Given the description of an element on the screen output the (x, y) to click on. 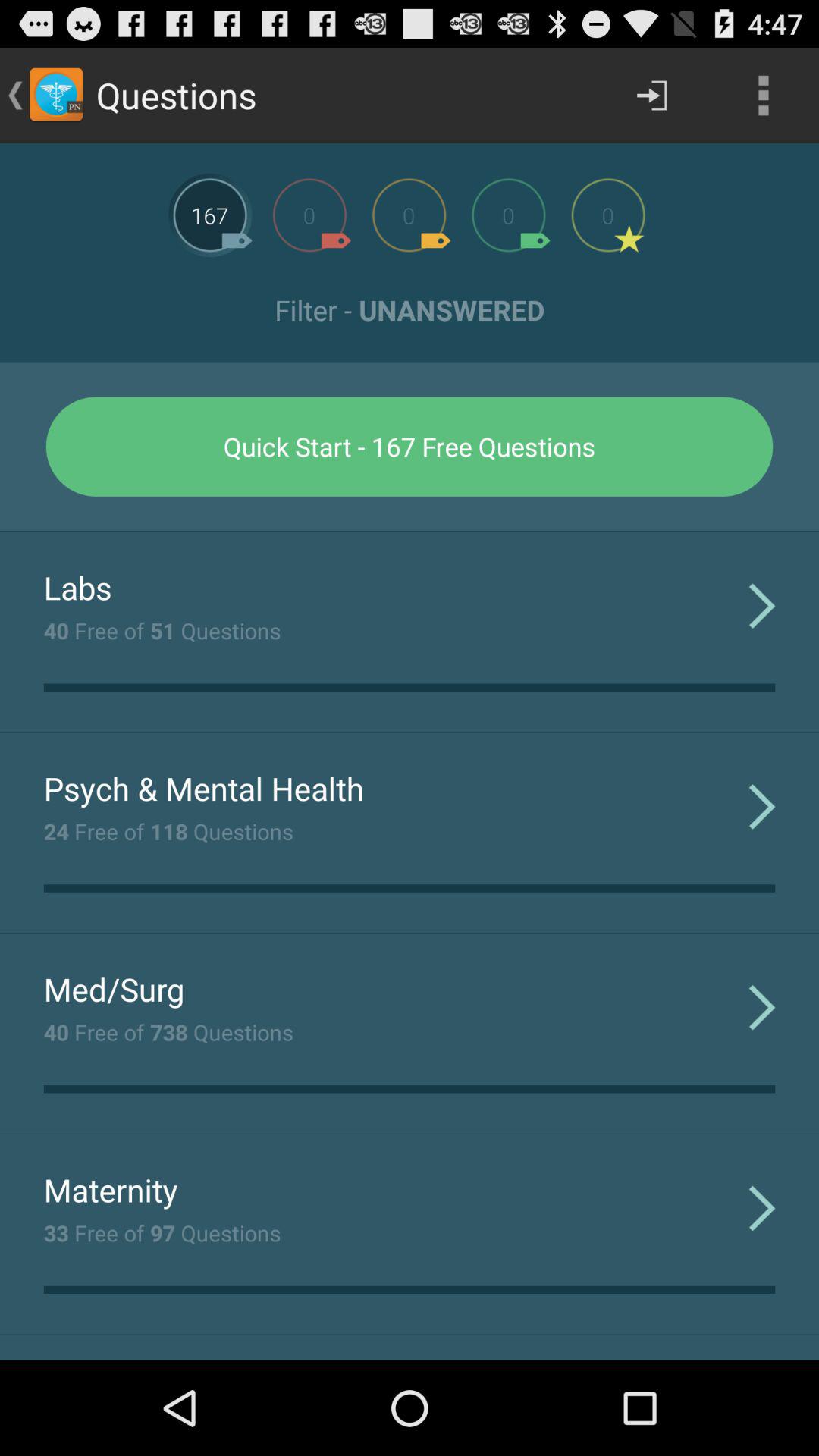
access to favorites (608, 215)
